Given the description of an element on the screen output the (x, y) to click on. 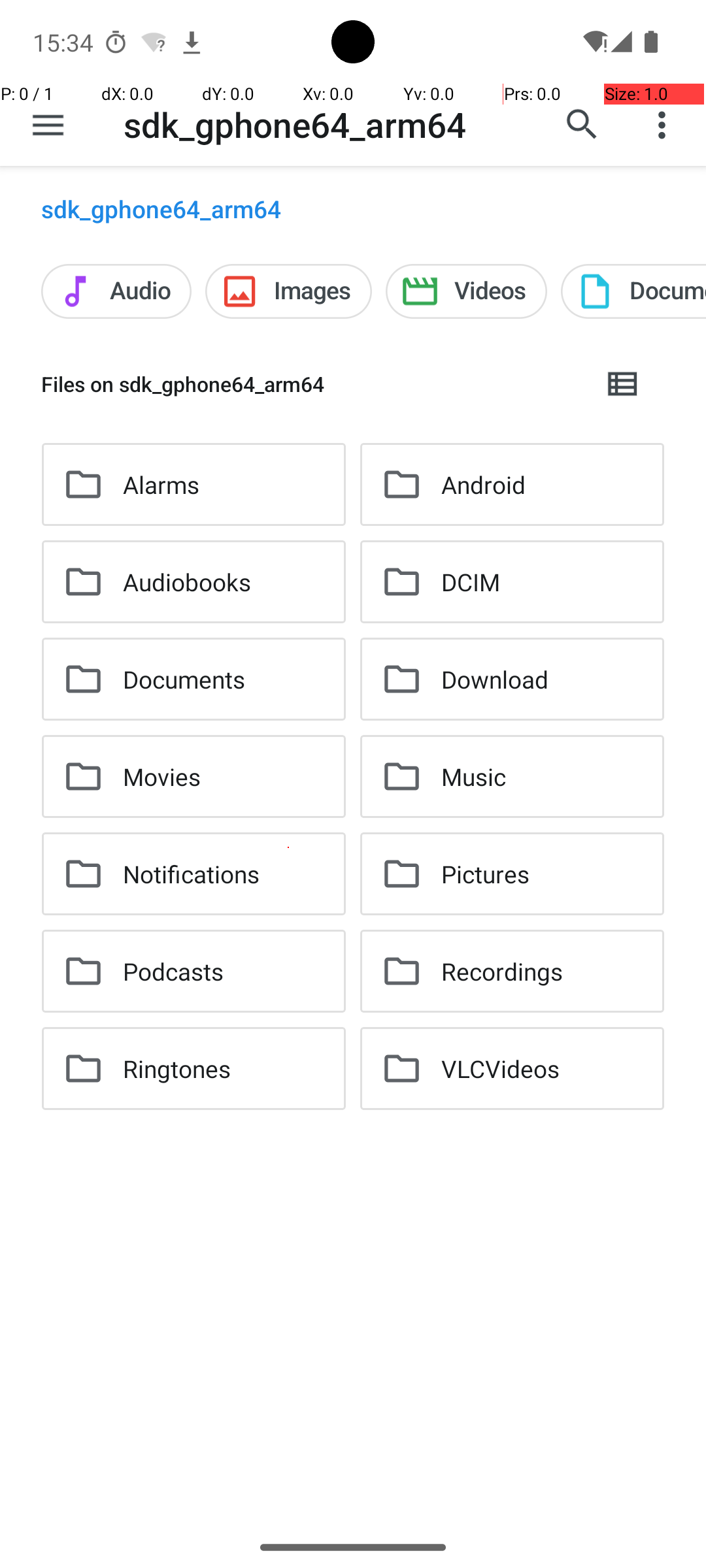
Files on sdk_gphone64_arm64 Element type: android.widget.TextView (311, 383)
Alarms Element type: android.widget.TextView (160, 484)
Android Element type: android.widget.TextView (483, 484)
Audiobooks Element type: android.widget.TextView (186, 581)
Recordings Element type: android.widget.TextView (501, 970)
Ringtones Element type: android.widget.TextView (176, 1068)
